Given the description of an element on the screen output the (x, y) to click on. 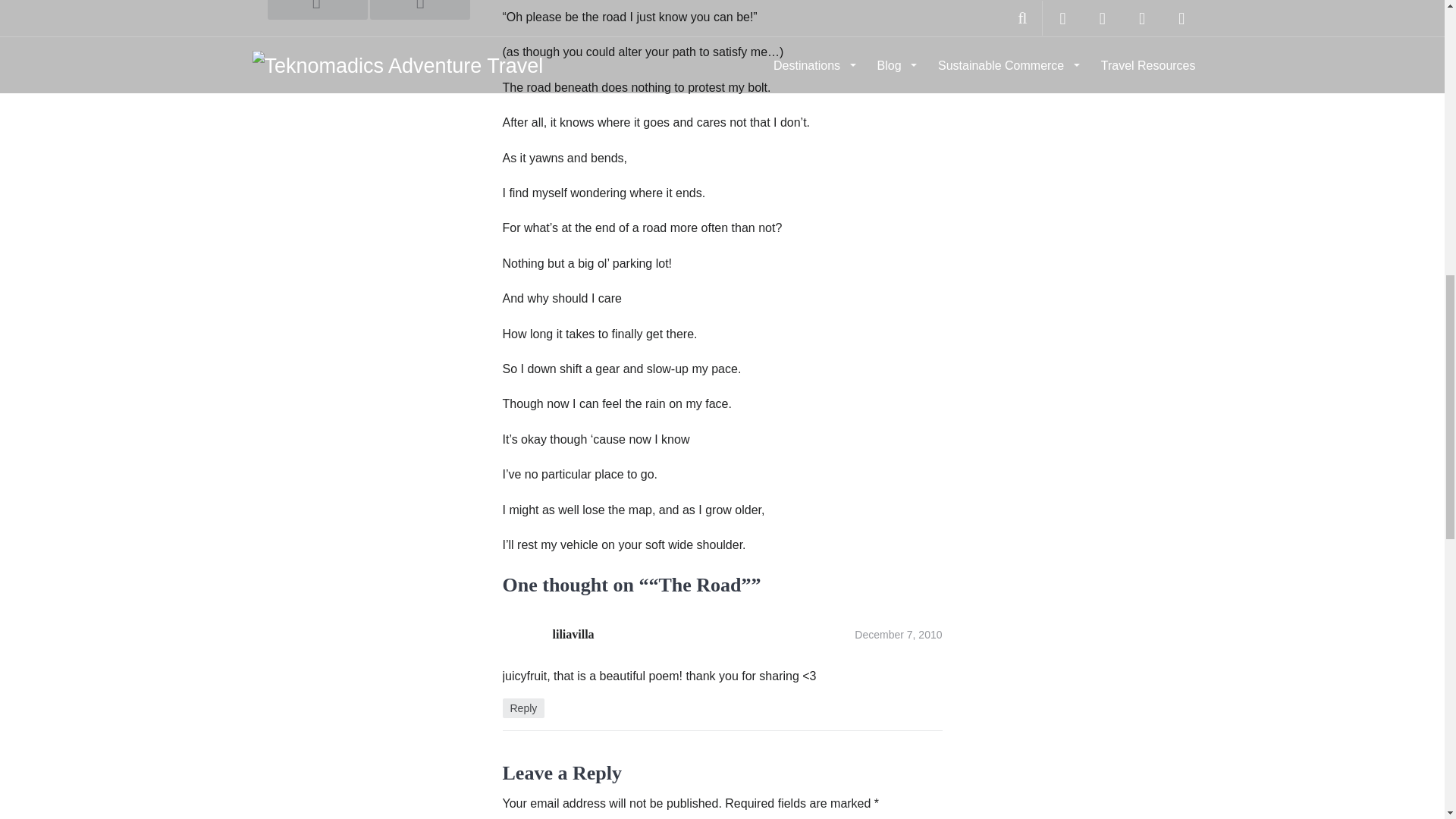
Reply (523, 707)
liliavilla (572, 634)
December 7, 2010 (898, 634)
